Given the description of an element on the screen output the (x, y) to click on. 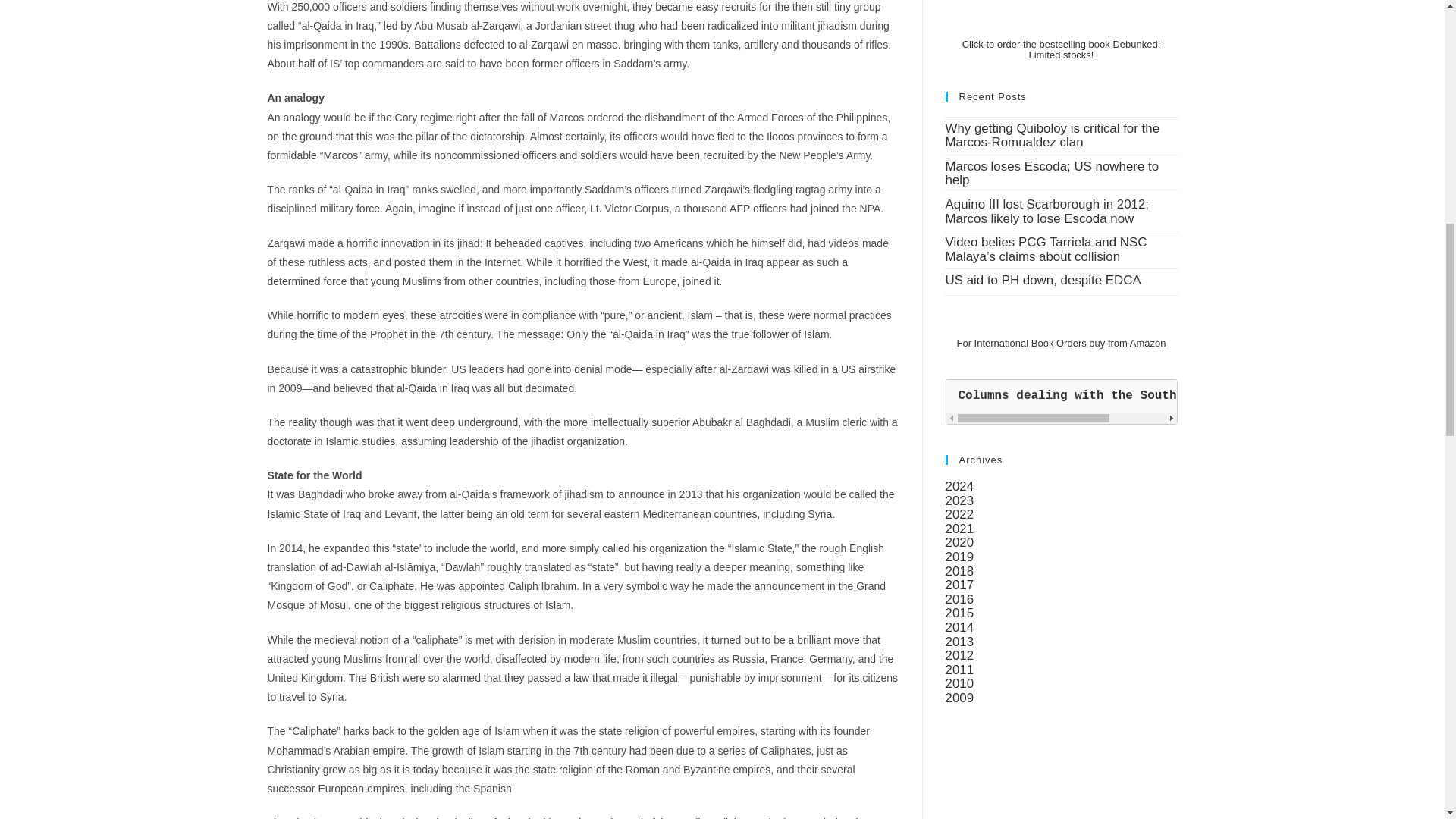
US aid to PH down, despite EDCA (1042, 279)
Marcos loses Escoda; US nowhere to help (1051, 173)
